Given the description of an element on the screen output the (x, y) to click on. 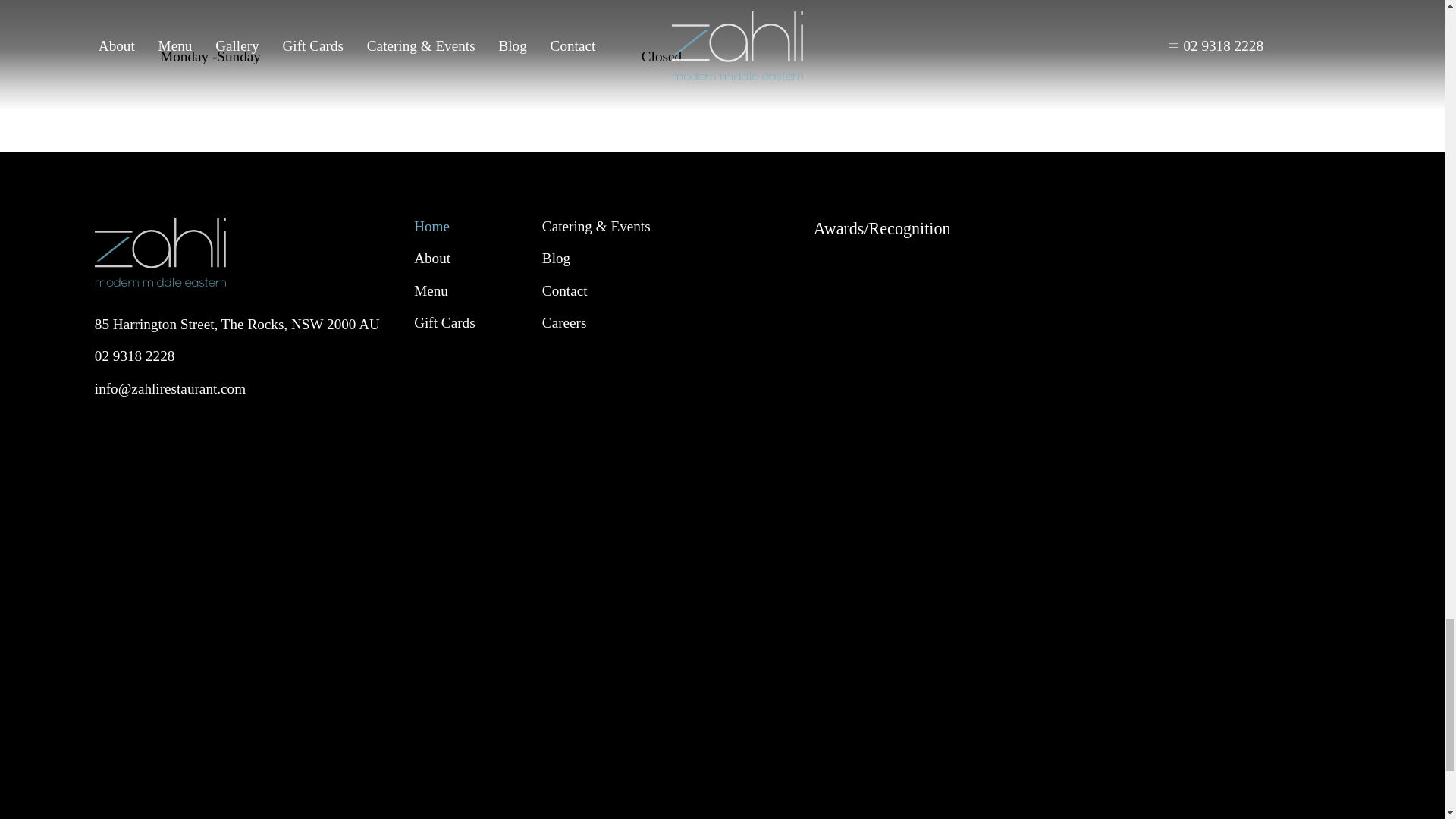
Blog (555, 258)
About (431, 258)
Menu (430, 290)
85 Harrington Street, The Rocks, NSW 2000 AU (237, 324)
02 9318 2228 (134, 355)
Contact (564, 290)
Gift Cards (443, 322)
Home (431, 226)
